Given the description of an element on the screen output the (x, y) to click on. 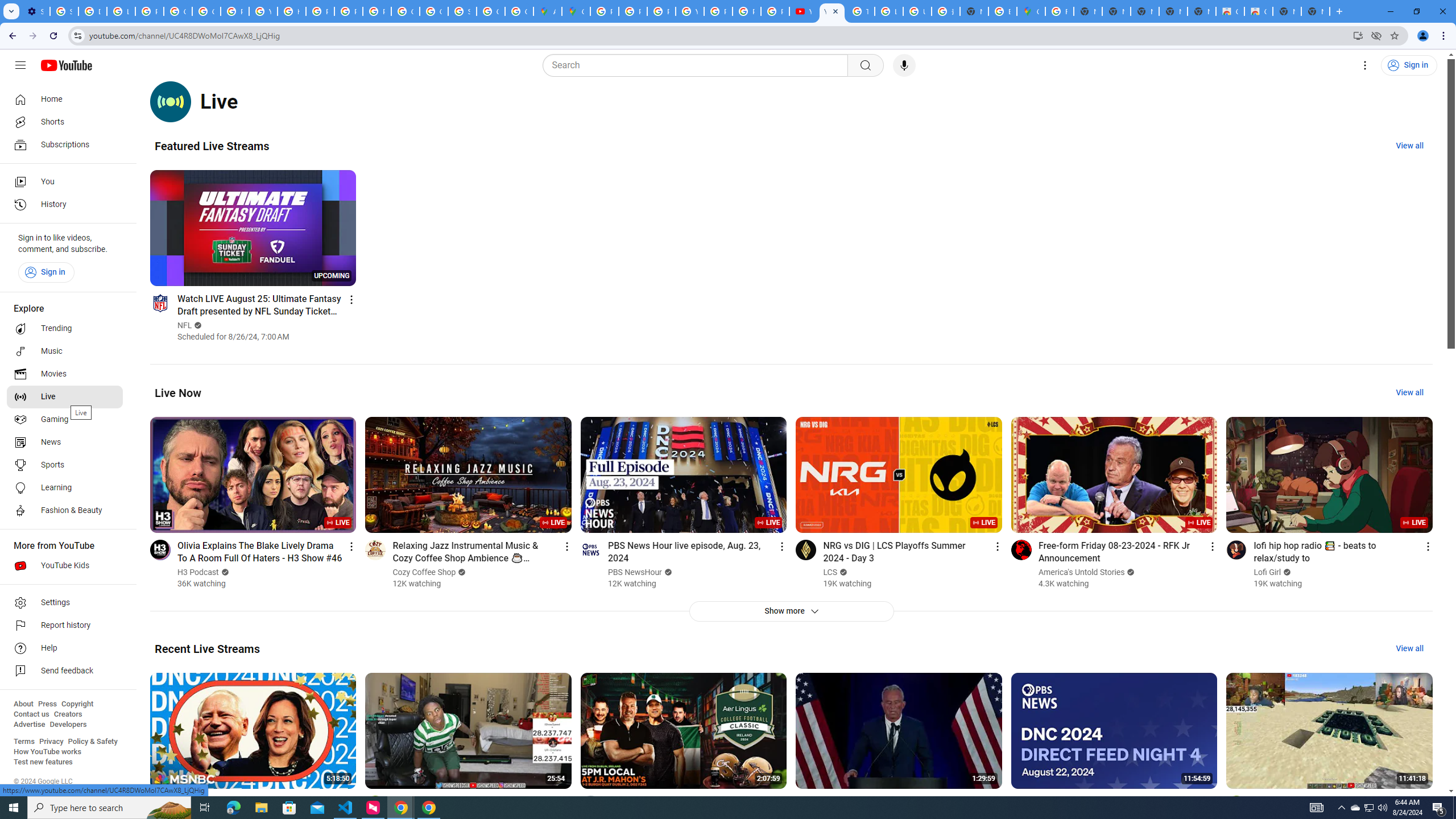
Sign in (45, 272)
Live Now (178, 392)
Creators (67, 714)
View all (1409, 648)
Search with your voice (903, 65)
YouTube (803, 11)
Terms (23, 741)
NFL (184, 325)
Privacy Checkup (746, 11)
Movies (64, 373)
Cozy Coffee Shop (425, 572)
Fashion & Beauty (64, 510)
